Given the description of an element on the screen output the (x, y) to click on. 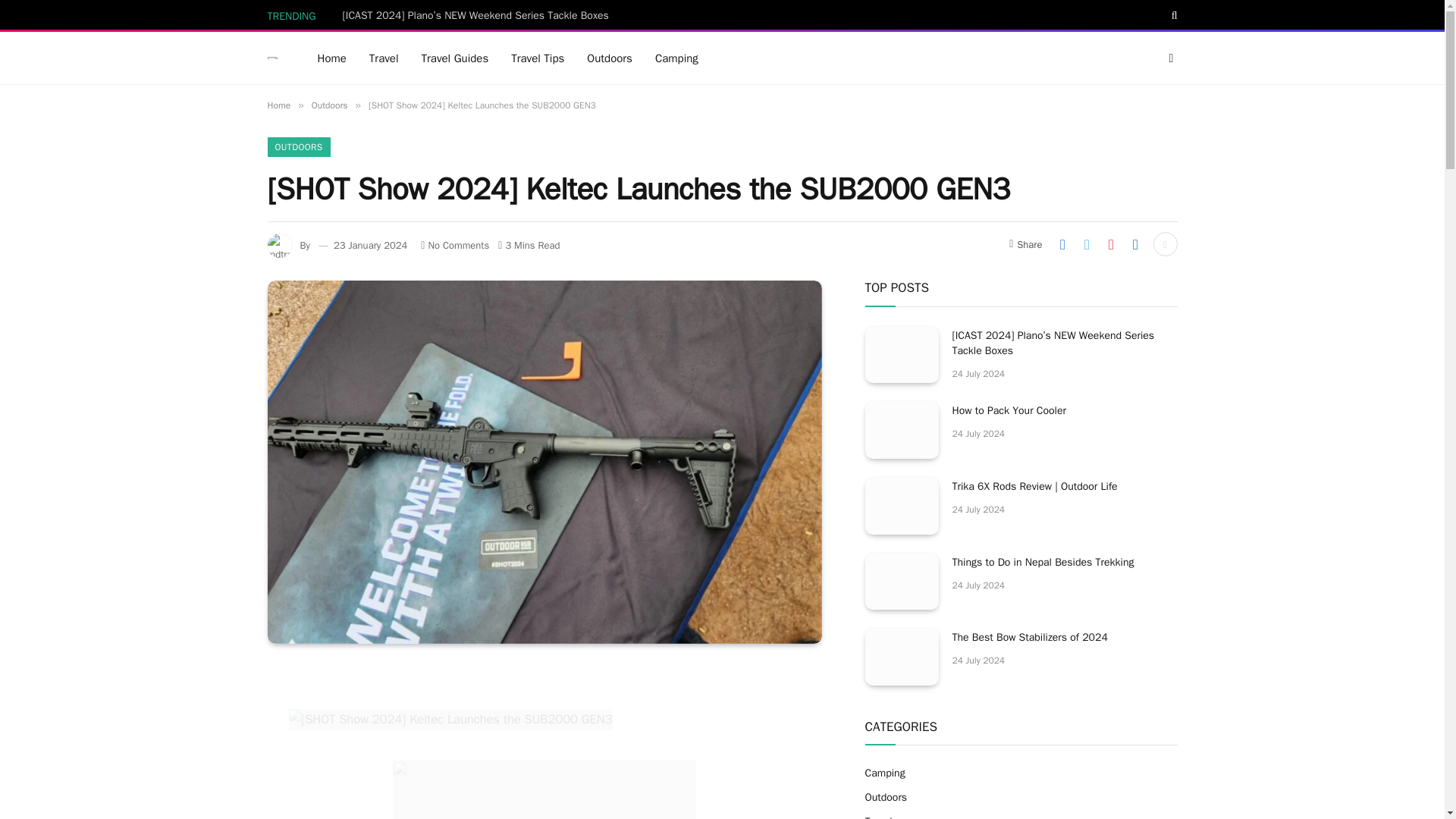
Home (331, 57)
Travel Guides (455, 57)
Switch to Dark Design - easier on eyes. (1169, 57)
No Comments (454, 245)
Share on Pinterest (1110, 243)
Travel (384, 57)
Share on Facebook (1062, 243)
Show More Social Sharing (1164, 243)
MDTravelHub (272, 57)
Outdoors (329, 105)
Home (277, 105)
Search (1173, 15)
Travel Tips (537, 57)
Share on LinkedIn (1135, 243)
Camping (676, 57)
